Given the description of an element on the screen output the (x, y) to click on. 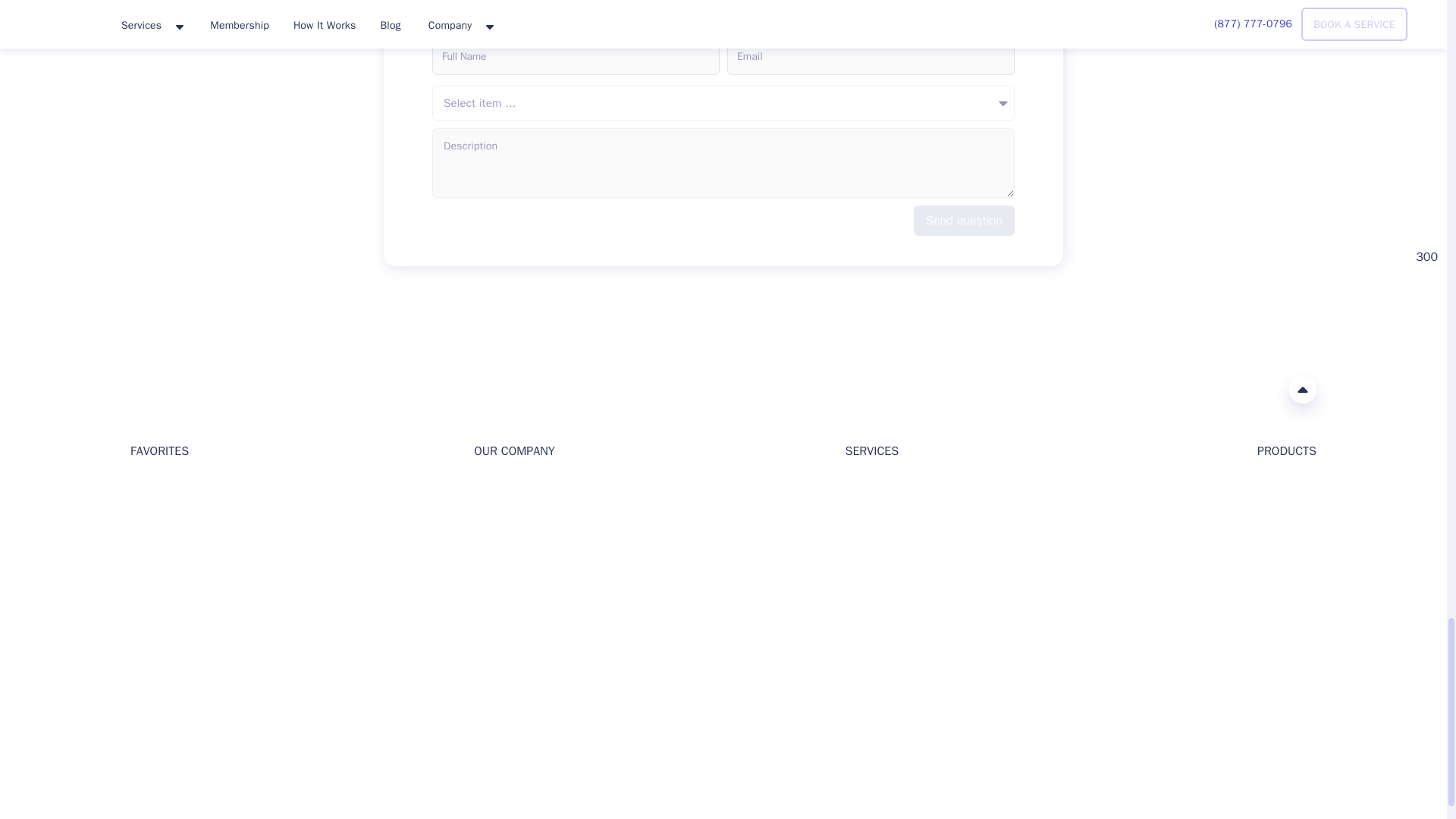
Membership (160, 584)
Blog (141, 512)
Send question (964, 220)
About Us (496, 487)
Home Alliance Support (139, 714)
Investors (496, 512)
How It Works (506, 535)
HomeAlliance (146, 388)
Locations (154, 560)
Welcome (152, 487)
